Given the description of an element on the screen output the (x, y) to click on. 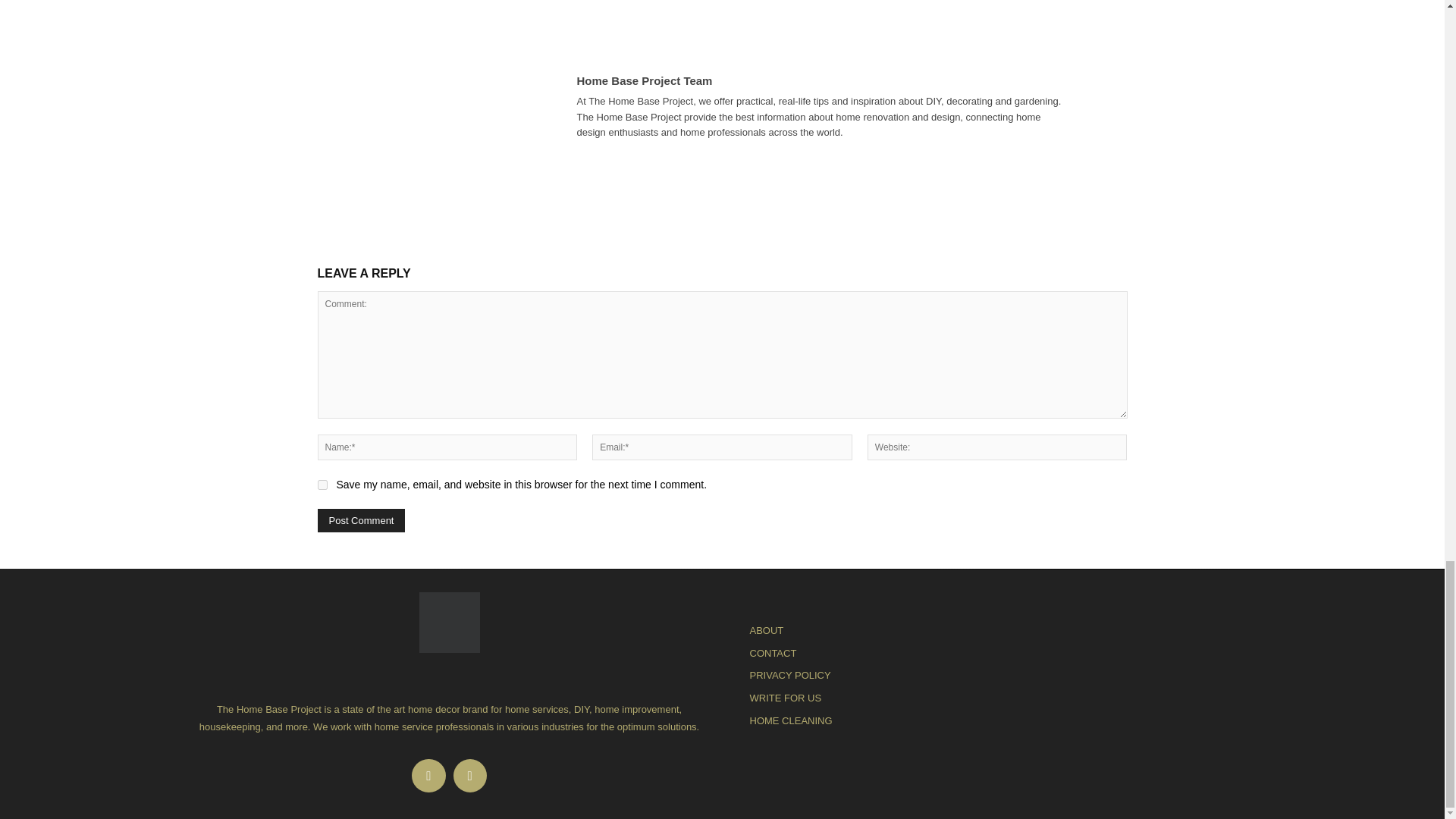
Post Comment (360, 520)
Home Base Project Team (511, 107)
Home Base Project (449, 622)
Home Base Project (448, 622)
yes (321, 484)
